Given the description of an element on the screen output the (x, y) to click on. 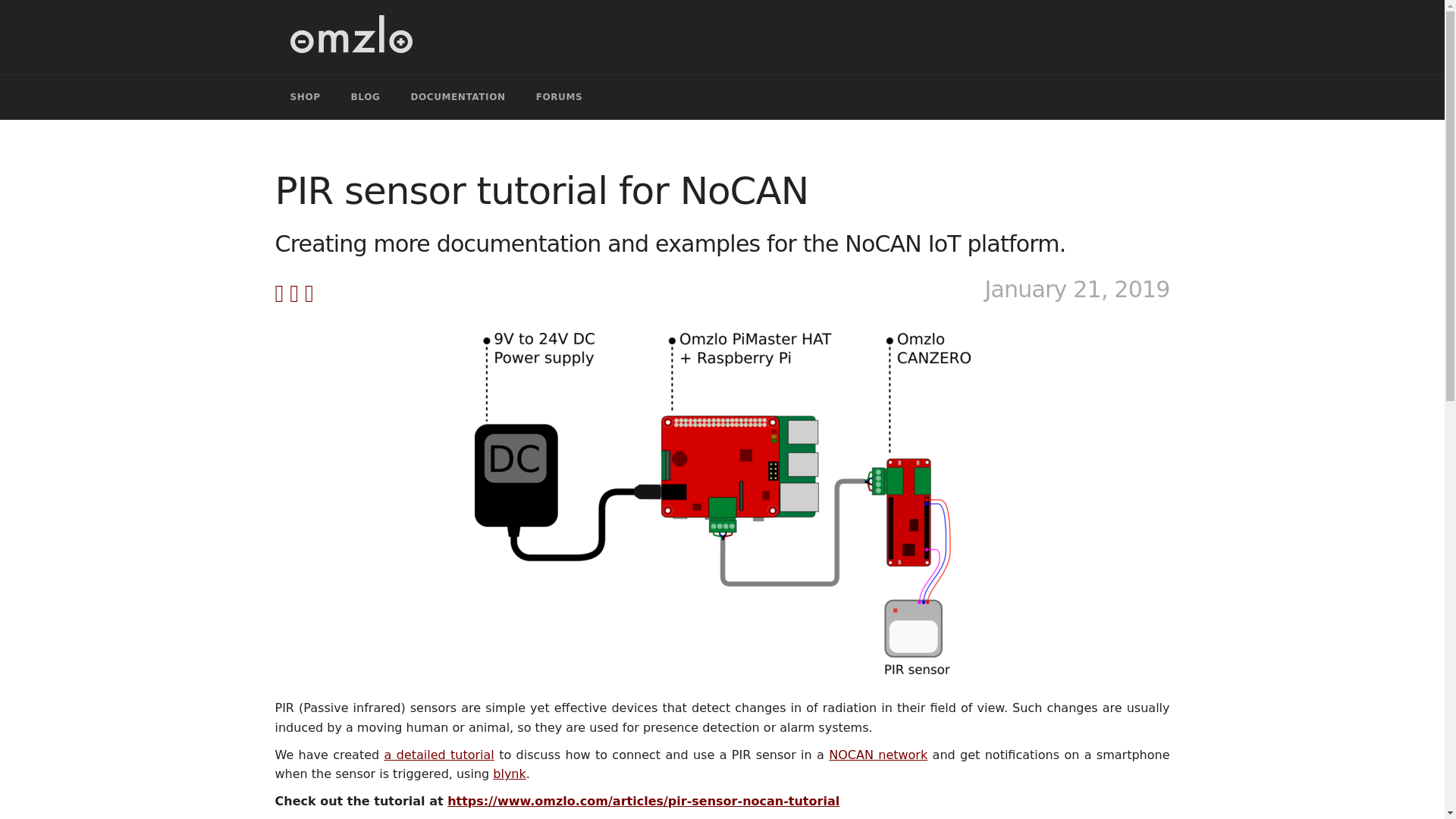
NOCAN network (877, 754)
a detailed tutorial (439, 754)
FORUMS (559, 97)
DOCUMENTATION (456, 97)
SHOP (304, 97)
blynk (509, 773)
BLOG (366, 97)
